Given the description of an element on the screen output the (x, y) to click on. 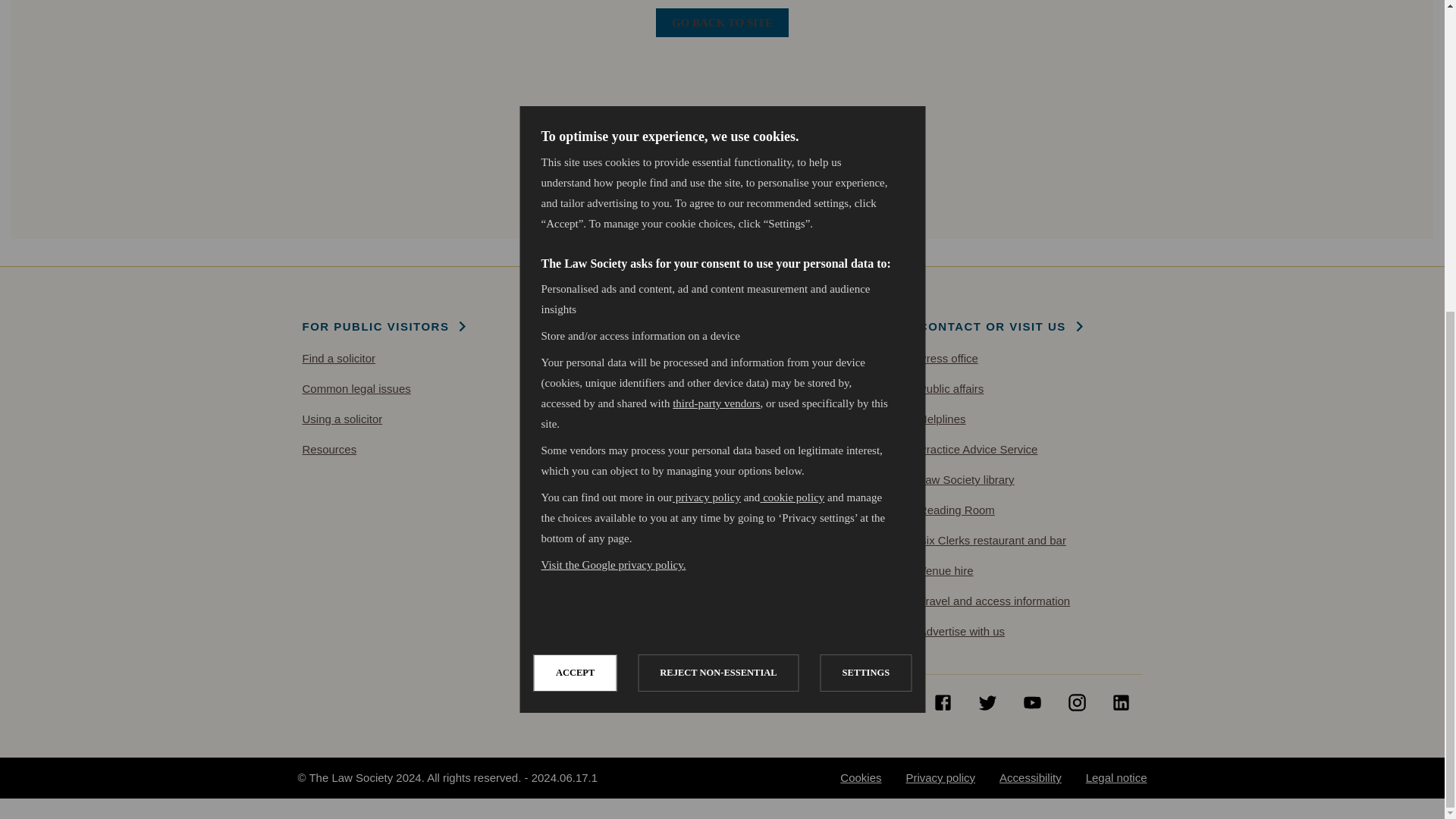
third-party vendors (716, 726)
Visit the Google privacy policy. (612, 693)
cookie policy (792, 669)
privacy policy (705, 751)
SETTINGS (865, 563)
ACCEPT (573, 715)
REJECT NON-ESSENTIAL (717, 635)
